Given the description of an element on the screen output the (x, y) to click on. 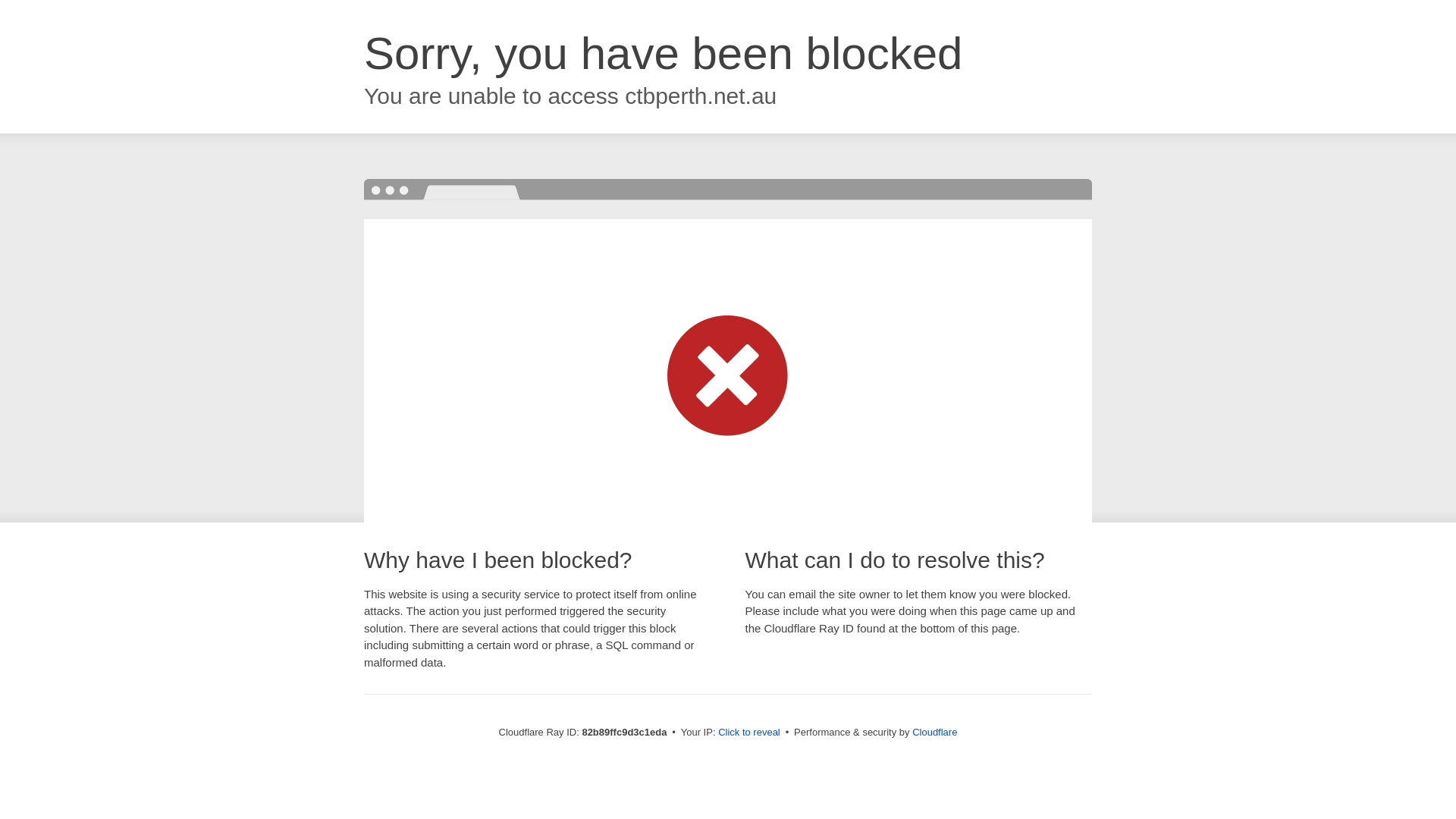
Cloudflare Element type: text (934, 731)
Click to reveal Element type: text (749, 732)
